Given the description of an element on the screen output the (x, y) to click on. 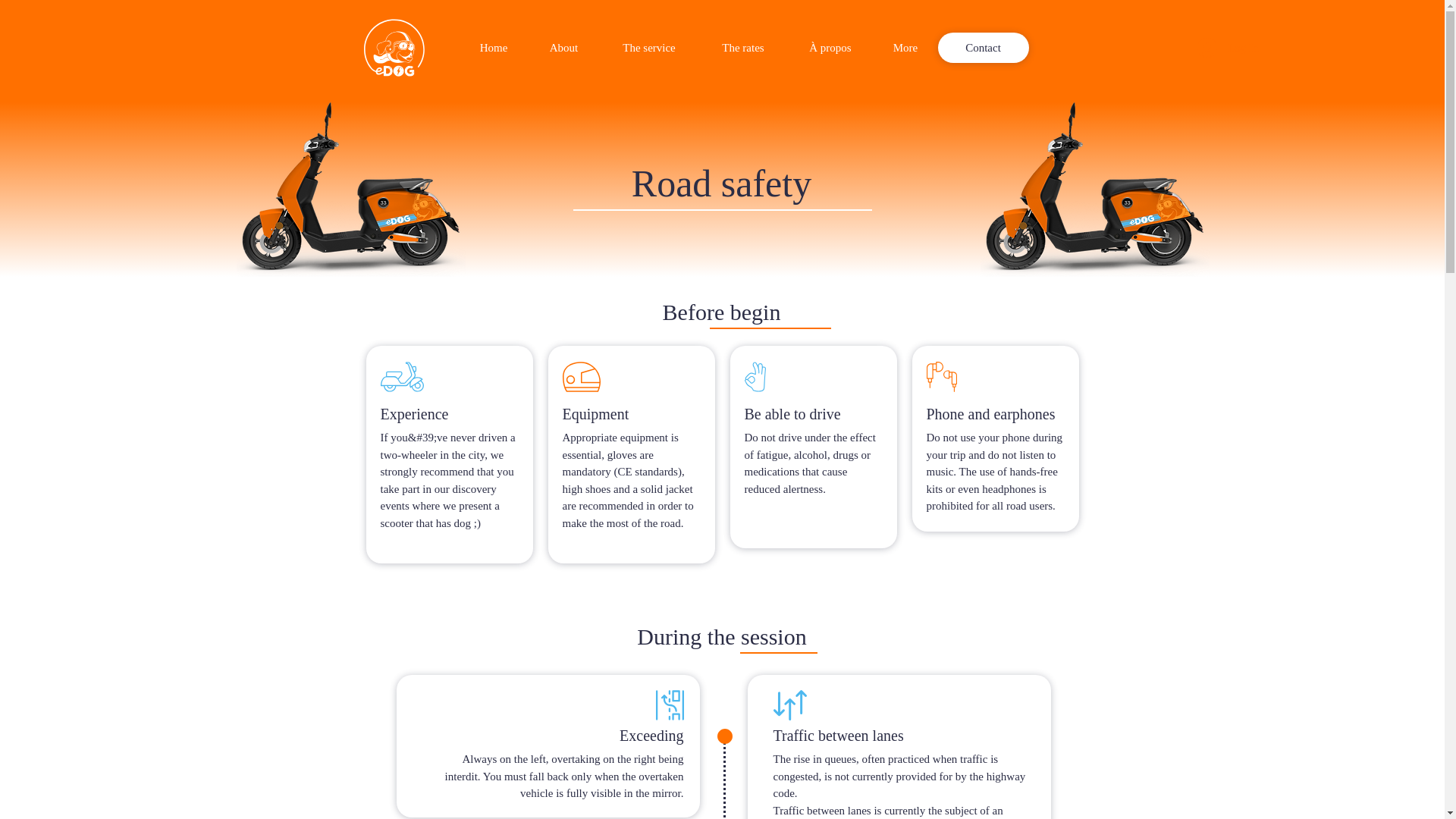
The service (648, 47)
About (562, 47)
Home (494, 47)
Log In (1227, 47)
The rates (742, 47)
Contact (982, 47)
